Given the description of an element on the screen output the (x, y) to click on. 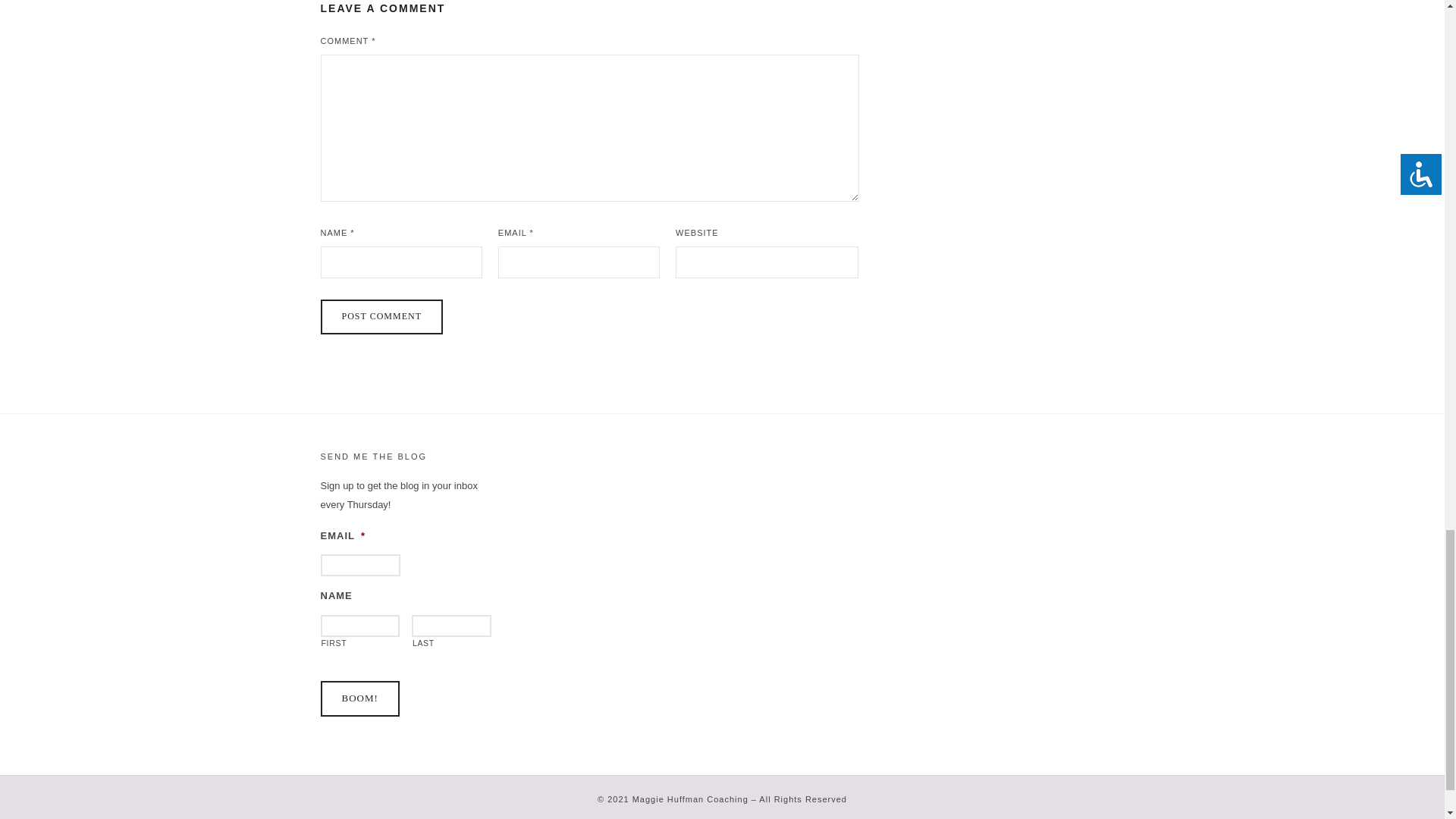
Boom! (359, 698)
Post Comment (381, 316)
